Given the description of an element on the screen output the (x, y) to click on. 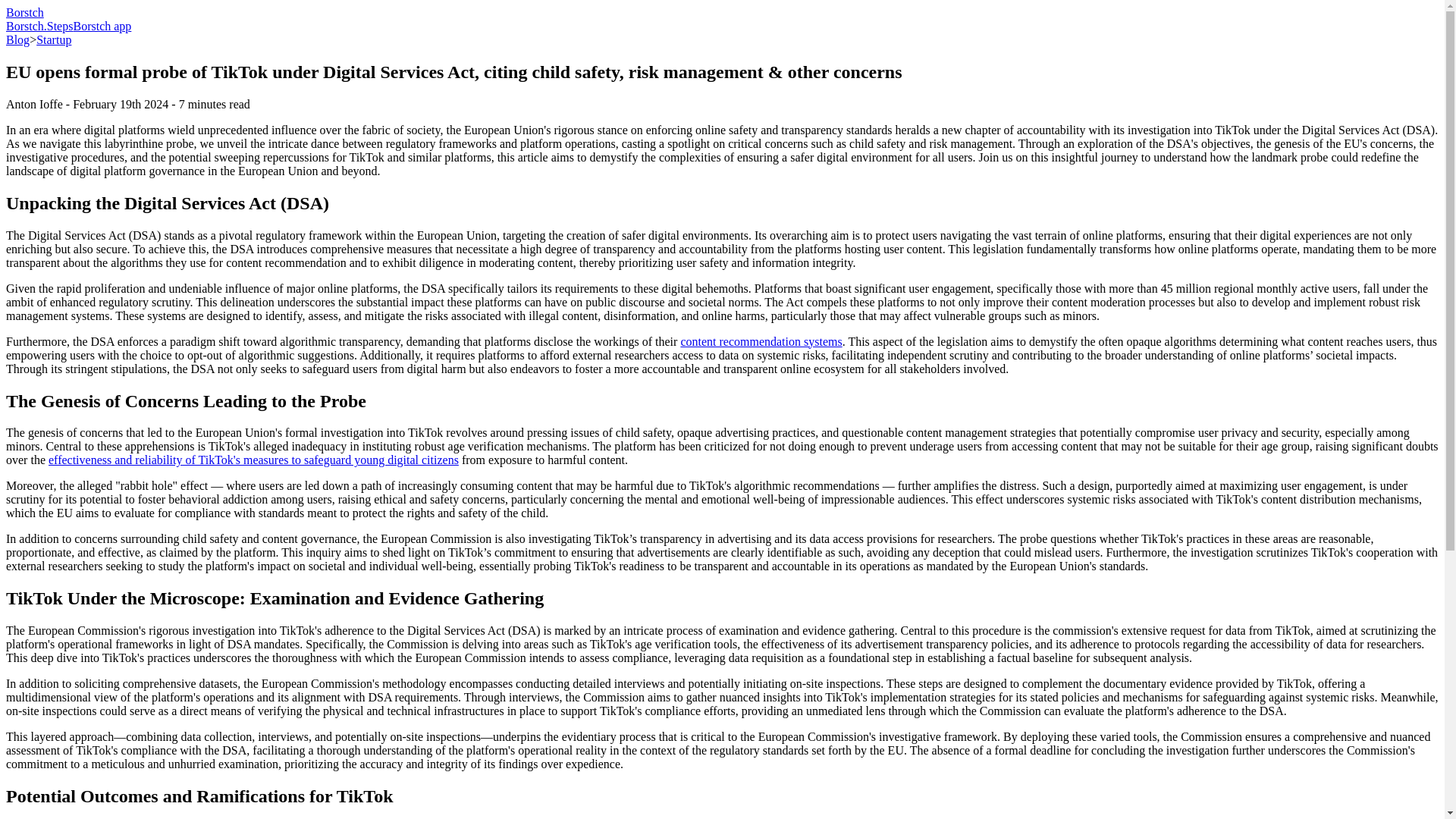
Startup (53, 39)
content recommendation systems (760, 341)
Blog (17, 39)
Borstch.Steps (38, 25)
Borstch (24, 11)
Borstch app (101, 25)
